Given the description of an element on the screen output the (x, y) to click on. 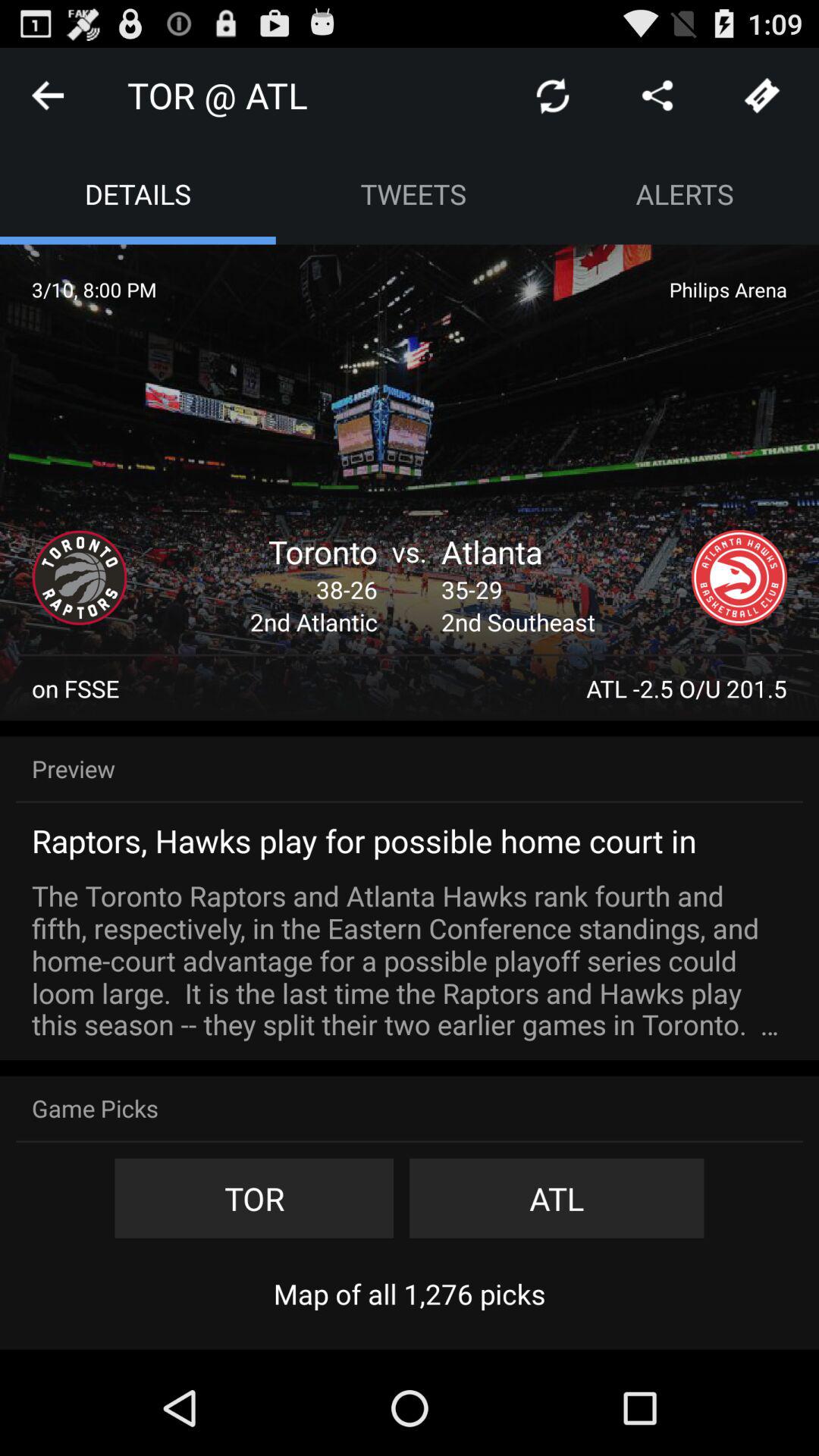
click on toronto raptors logo above on fsse (79, 577)
